Given the description of an element on the screen output the (x, y) to click on. 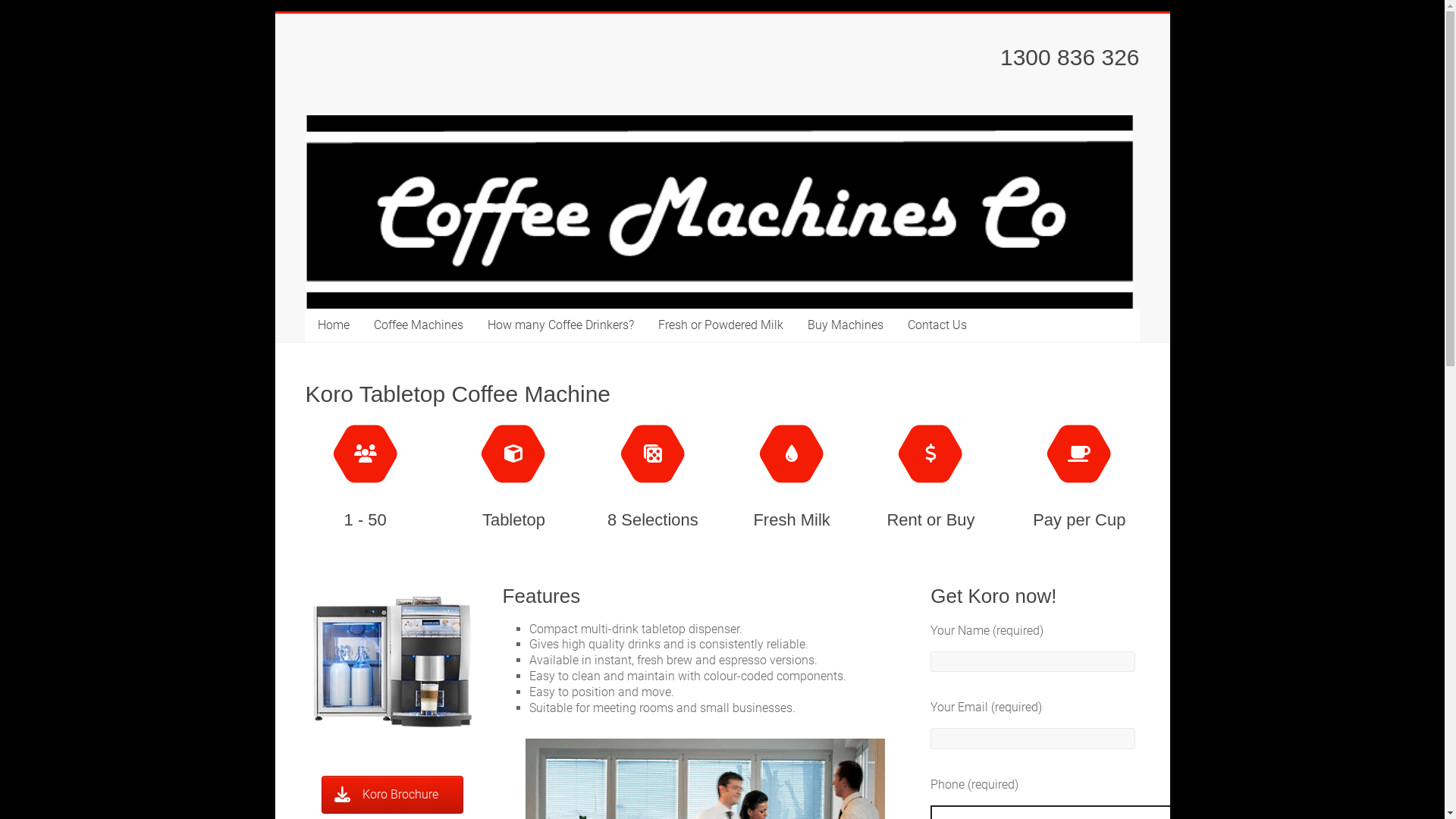
Contact Us Element type: text (936, 325)
Office Coffee Melbourne Element type: text (368, 84)
Home Element type: text (332, 325)
Fresh or Powdered Milk Element type: text (720, 325)
Koro Brochure Element type: text (392, 794)
How many Coffee Drinkers? Element type: text (559, 325)
Skip to content Element type: text (274, 12)
Coffee Machines Element type: text (417, 325)
Buy Machines Element type: text (844, 325)
